Given the description of an element on the screen output the (x, y) to click on. 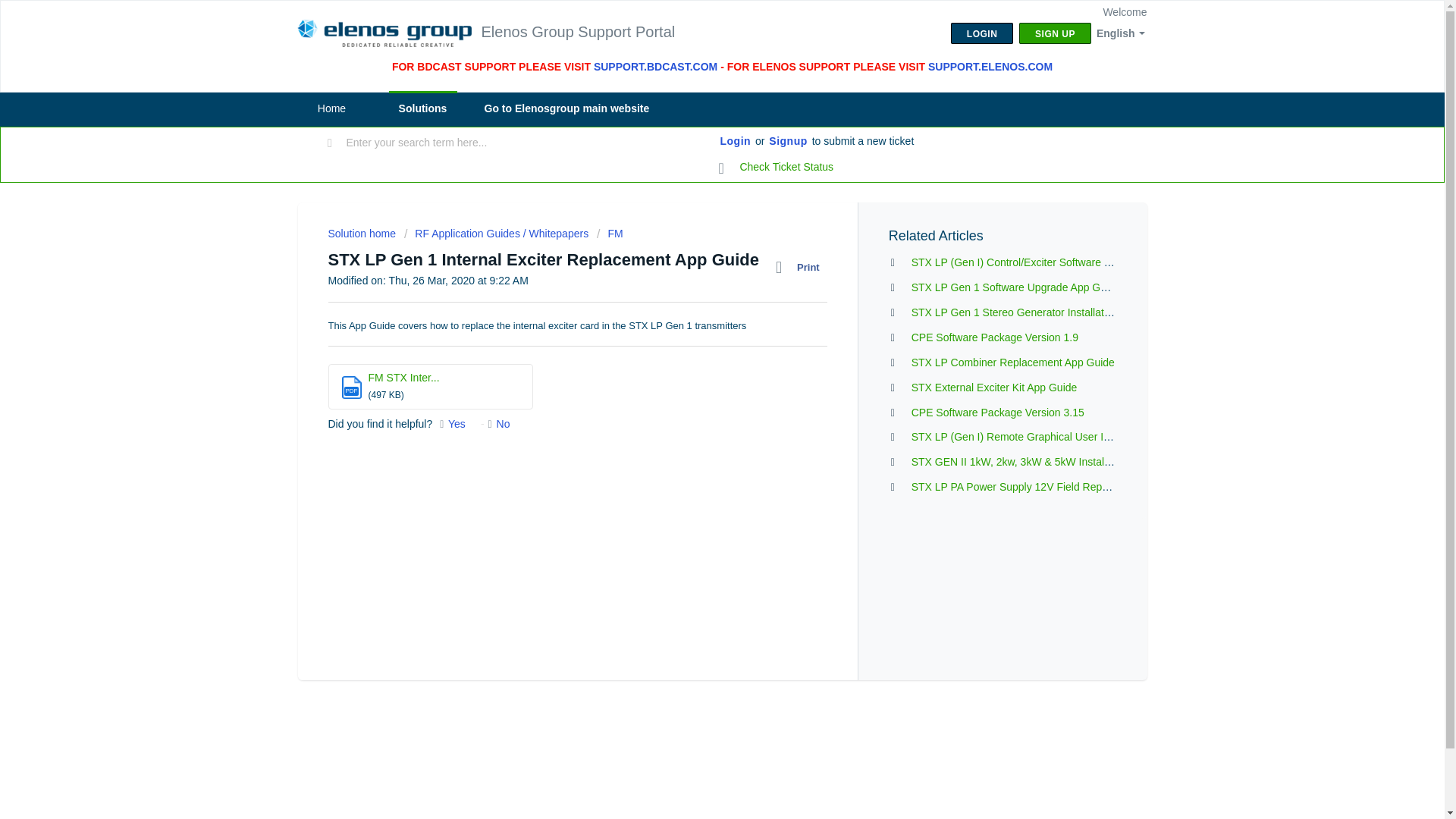
Solution home (362, 233)
Login (735, 141)
STX External Exciter Kit App Guide (994, 387)
FM STX Inter... (403, 377)
Check Ticket Status (776, 167)
STX LP Combiner Replacement App Guide (1013, 362)
SIGN UP (1054, 33)
STX LP Gen 1 Stereo Generator Installation App Guide (1040, 312)
STX LP PA Power Supply 12V Field Repair Kit App Guide (1046, 486)
STX LP Gen 1 Software Upgrade App Guide (1016, 287)
